Given the description of an element on the screen output the (x, y) to click on. 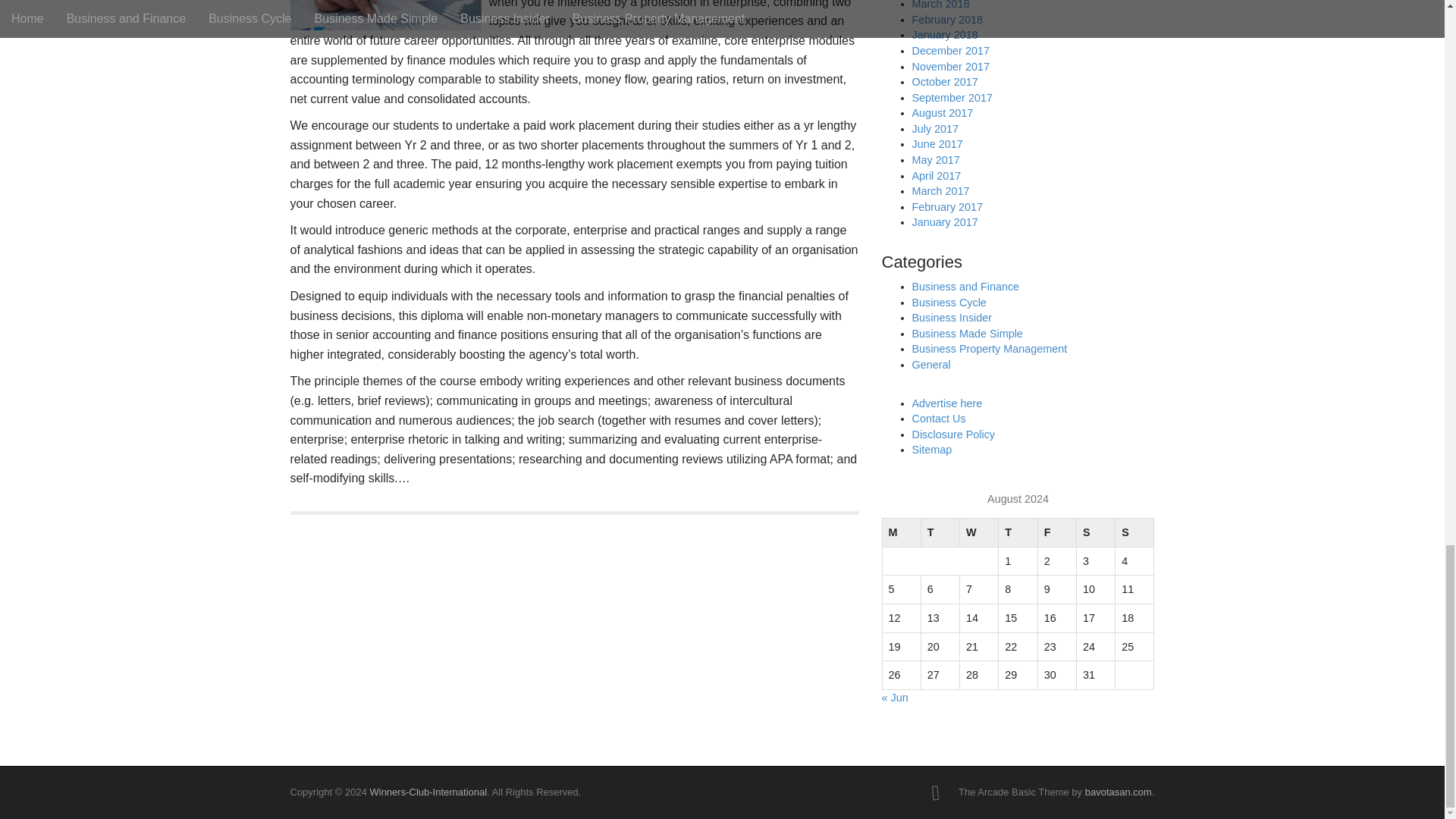
Sunday (1134, 532)
Saturday (1095, 532)
Wednesday (978, 532)
Tuesday (939, 532)
Thursday (1017, 532)
Monday (901, 532)
Friday (1055, 532)
